Given the description of an element on the screen output the (x, y) to click on. 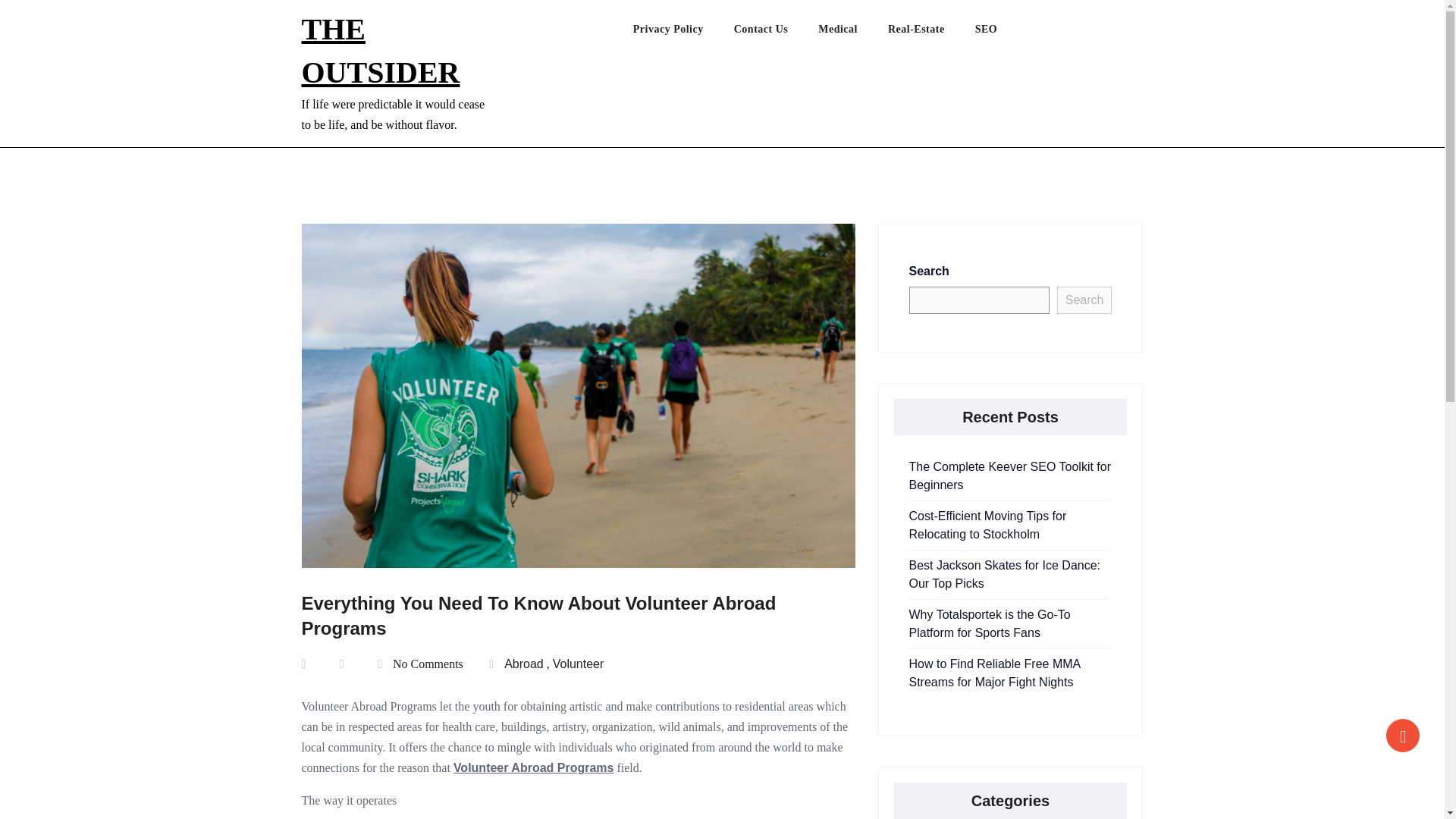
Medical (853, 32)
Contact Us (775, 32)
The Complete Keever SEO Toolkit for Beginners (1009, 475)
How to Find Reliable Free MMA Streams for Major Fight Nights (994, 672)
Cost-Efficient Moving Tips for Relocating to Stockholm (986, 524)
Volunteer (578, 663)
Search (1084, 299)
Best Jackson Skates for Ice Dance: Our Top Picks (1004, 573)
Privacy Policy (683, 32)
SEO (1001, 32)
Why Totalsportek is the Go-To Platform for Sports Fans (989, 623)
Volunteer Abroad Programs (533, 767)
Abroad (523, 663)
THE OUTSIDER (380, 50)
Real-Estate (931, 32)
